Given the description of an element on the screen output the (x, y) to click on. 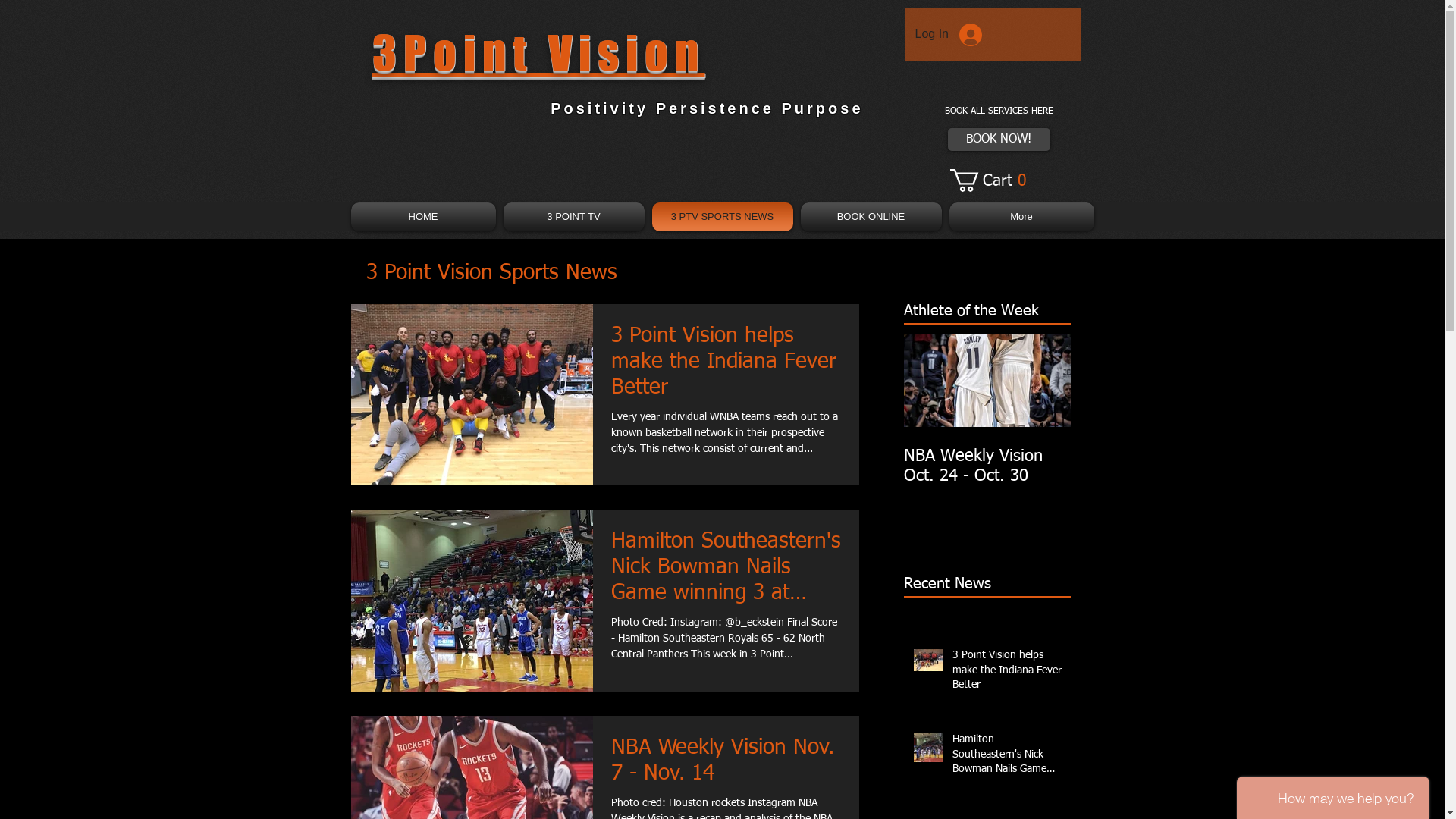
BOOK ONLINE Element type: text (870, 216)
BOOK NOW! Element type: text (998, 139)
3 PTV SPORTS NEWS Element type: text (721, 216)
3Point Vision Element type: text (537, 58)
NBA Weekly Vision Oct. 24 - Oct. 30 Element type: text (986, 466)
3 POINT TV Element type: text (572, 216)
Cart
0 Element type: text (992, 180)
Log In Element type: text (947, 34)
3 Point Vision helps make the Indiana Fever Better Element type: text (1006, 673)
HOME Element type: text (424, 216)
NBA Weekly Vision Nov. 7 - Nov. 14 Element type: text (725, 764)
3 Point Vision helps make the Indiana Fever Better Element type: text (725, 365)
